Given the description of an element on the screen output the (x, y) to click on. 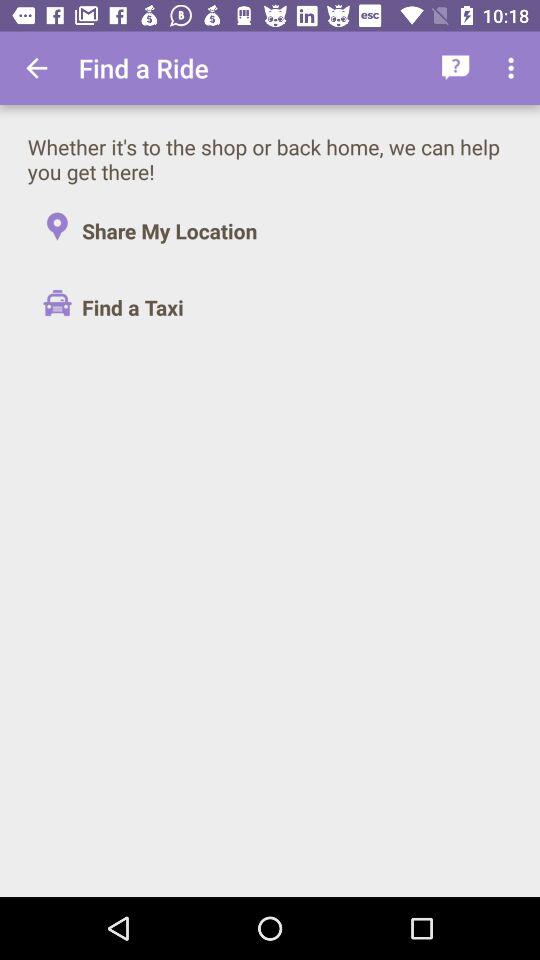
turn off the app to the right of find a ride (455, 67)
